Given the description of an element on the screen output the (x, y) to click on. 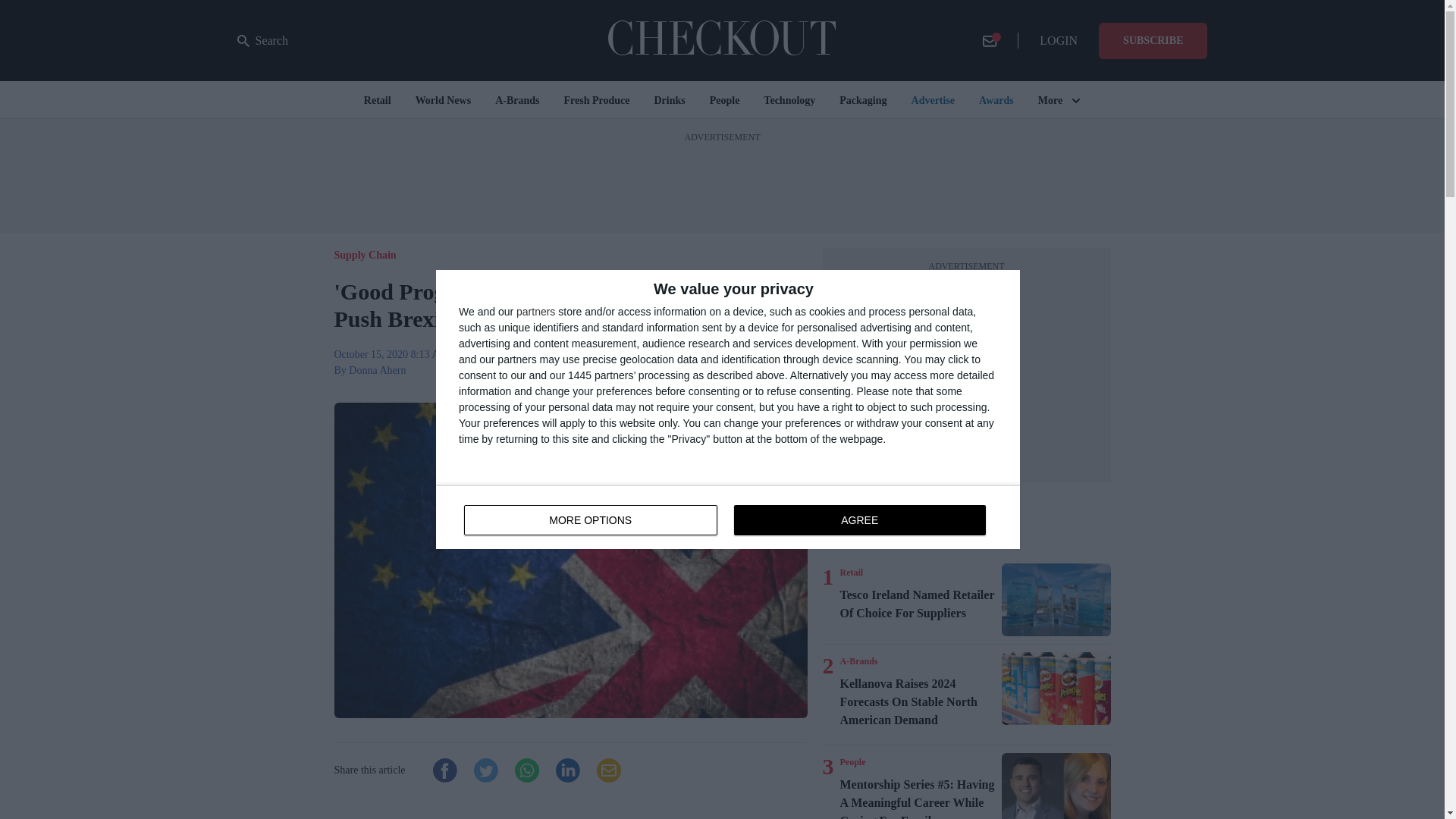
A-Brands (858, 661)
Tesco Ireland Named Retailer Of Choice For Suppliers (727, 516)
Retail (1055, 599)
Search (851, 572)
Tesco Ireland Named Retailer Of Choice For Suppliers (261, 40)
People (917, 604)
